Given the description of an element on the screen output the (x, y) to click on. 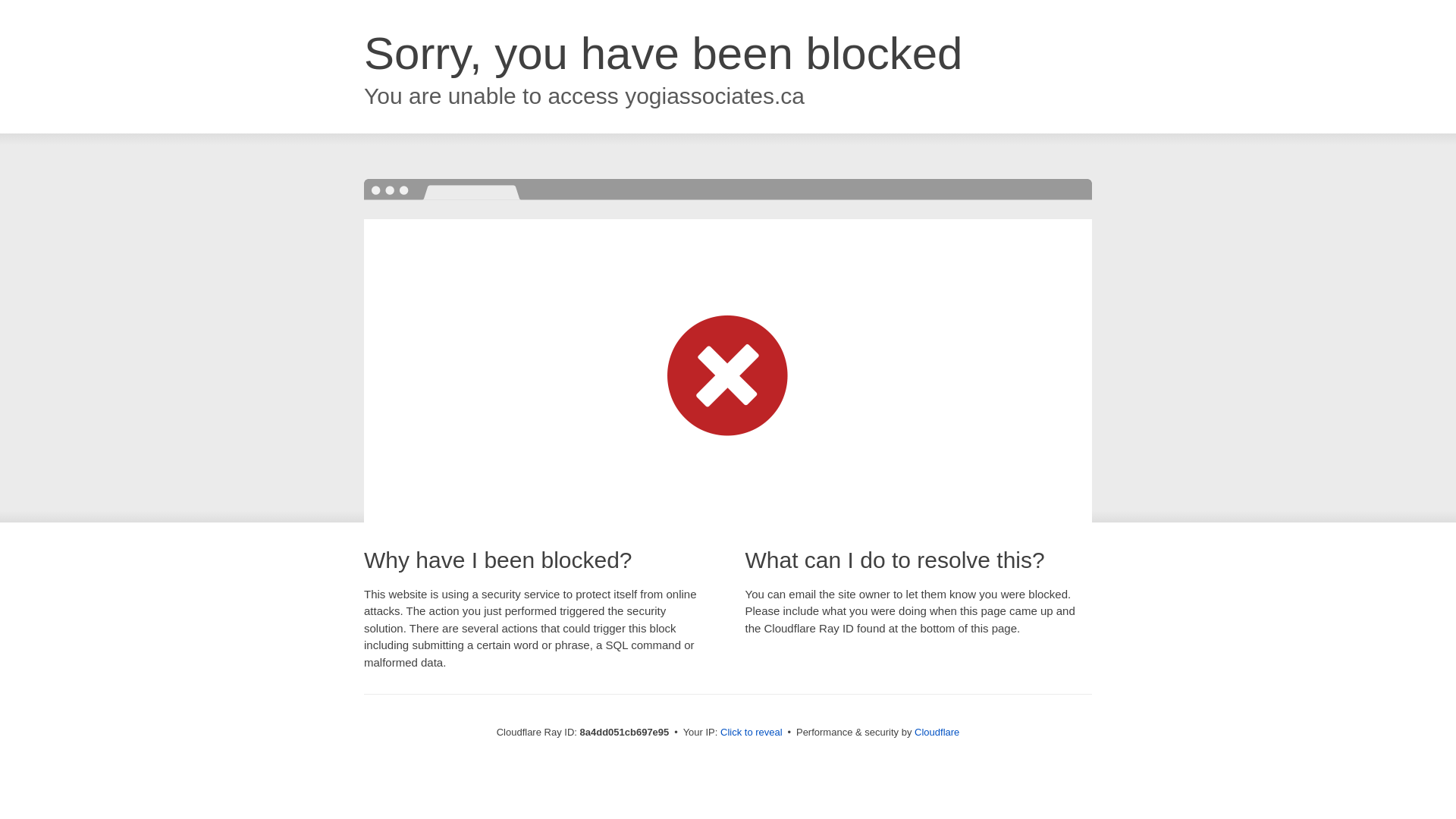
Cloudflare (936, 731)
Click to reveal (751, 732)
